Given the description of an element on the screen output the (x, y) to click on. 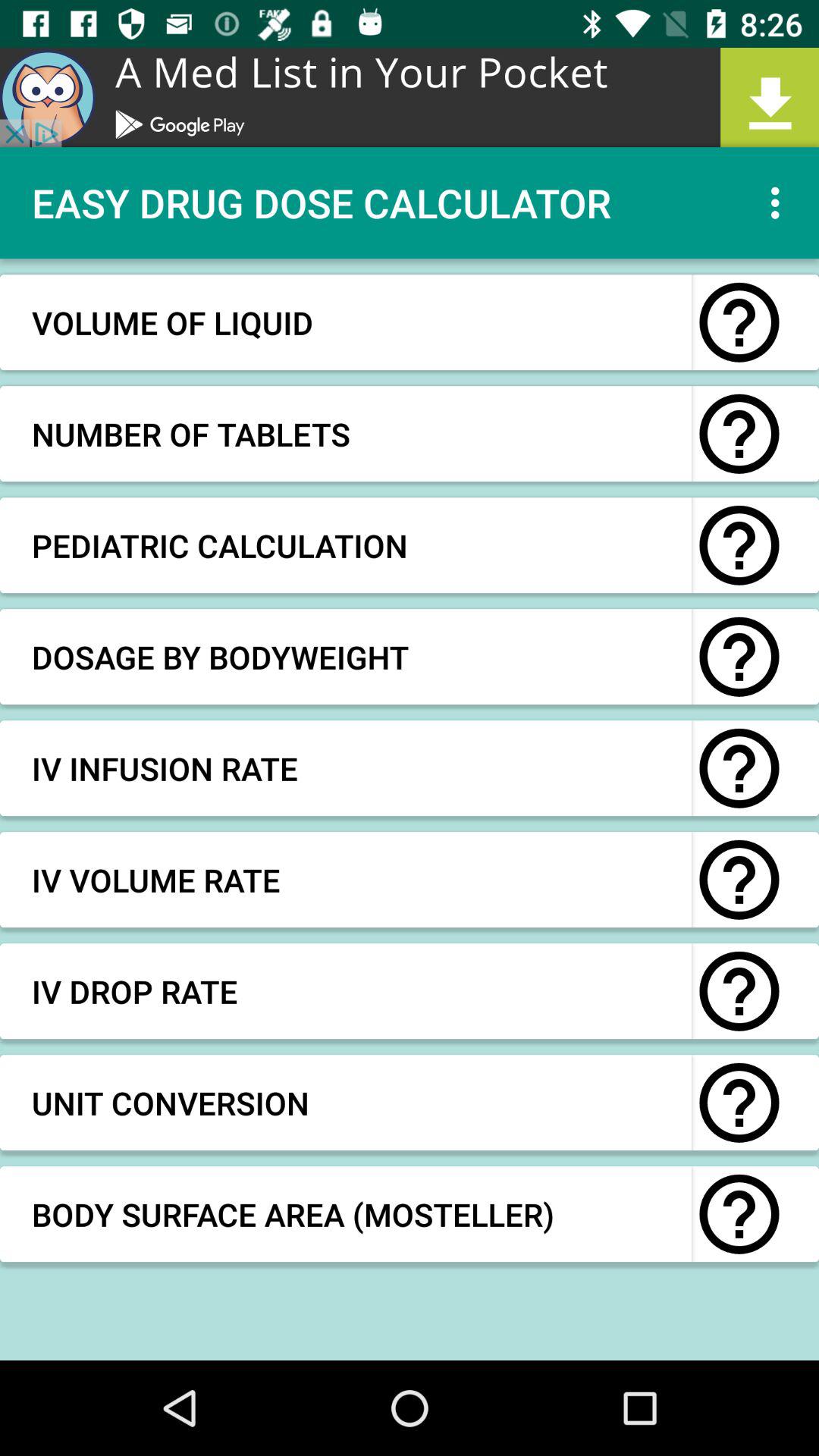
question mark (739, 656)
